Given the description of an element on the screen output the (x, y) to click on. 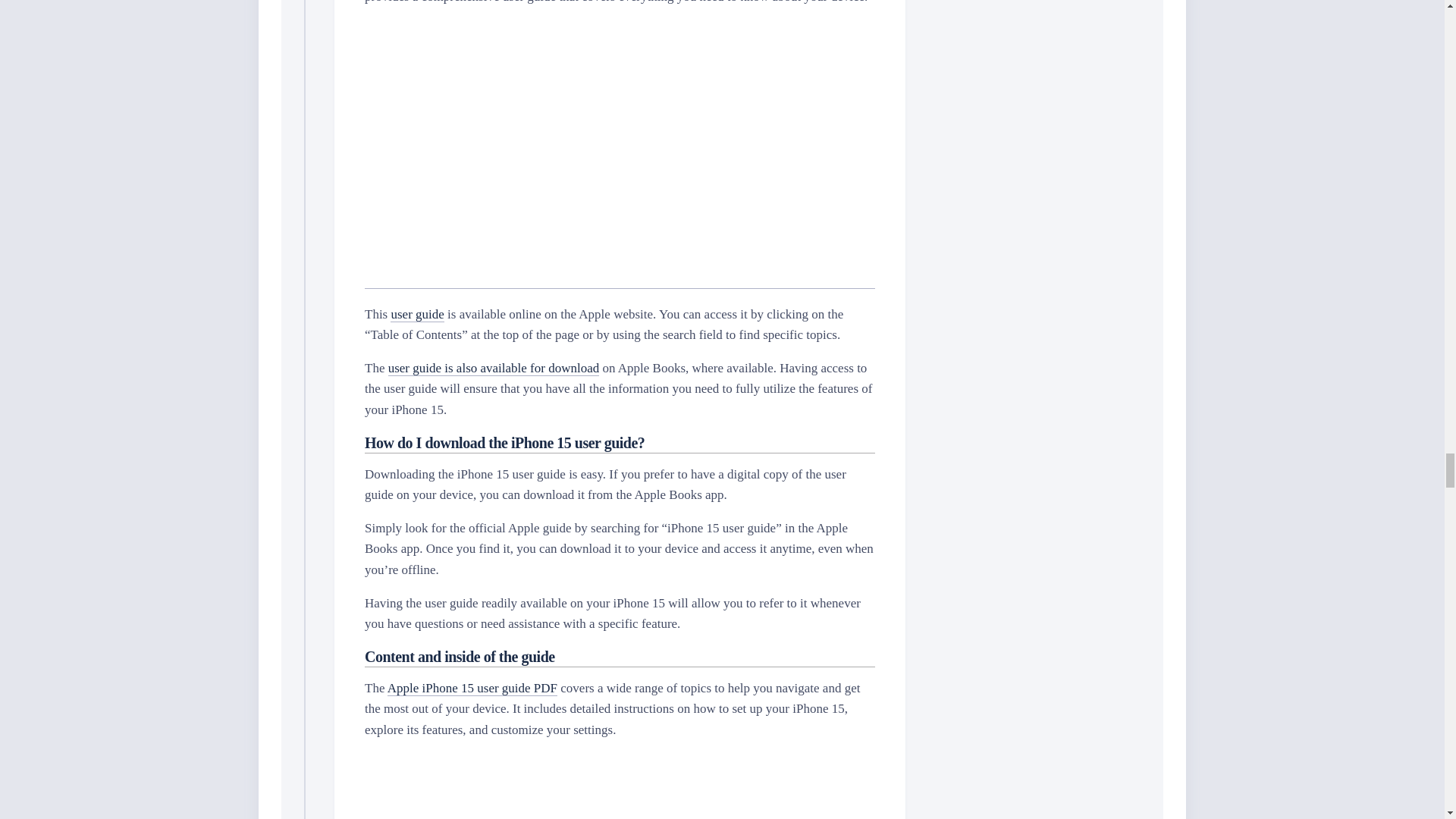
user guide (417, 314)
